Given the description of an element on the screen output the (x, y) to click on. 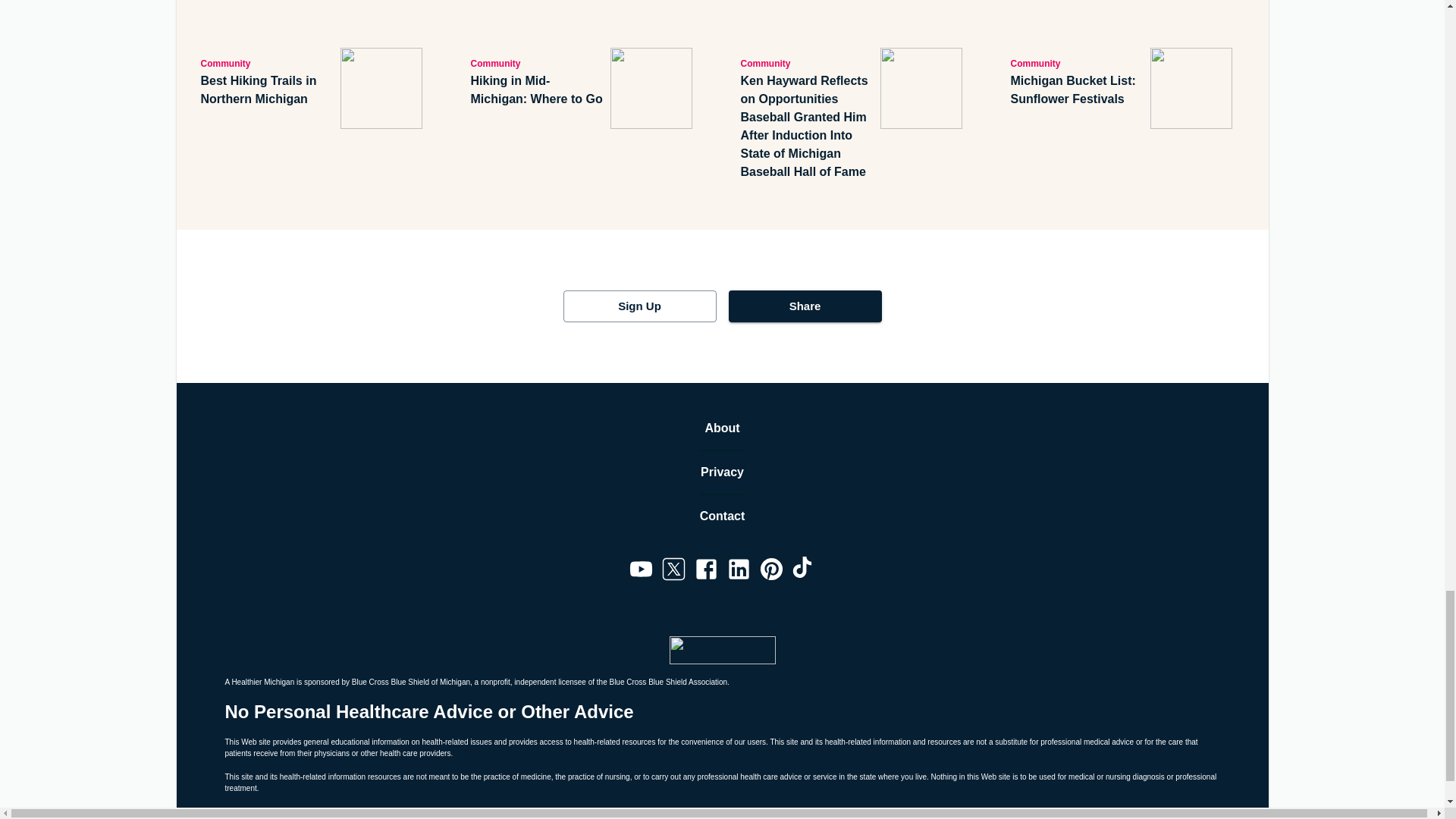
Community (267, 63)
Contact (722, 515)
Share (804, 306)
Sign Up (639, 306)
Community (1077, 63)
About (721, 428)
Best Hiking Trails in Northern Michigan (267, 90)
Privacy (722, 472)
Hiking in Mid-Michigan: Where to Go (537, 90)
Community (537, 63)
Community (807, 63)
